Given the description of an element on the screen output the (x, y) to click on. 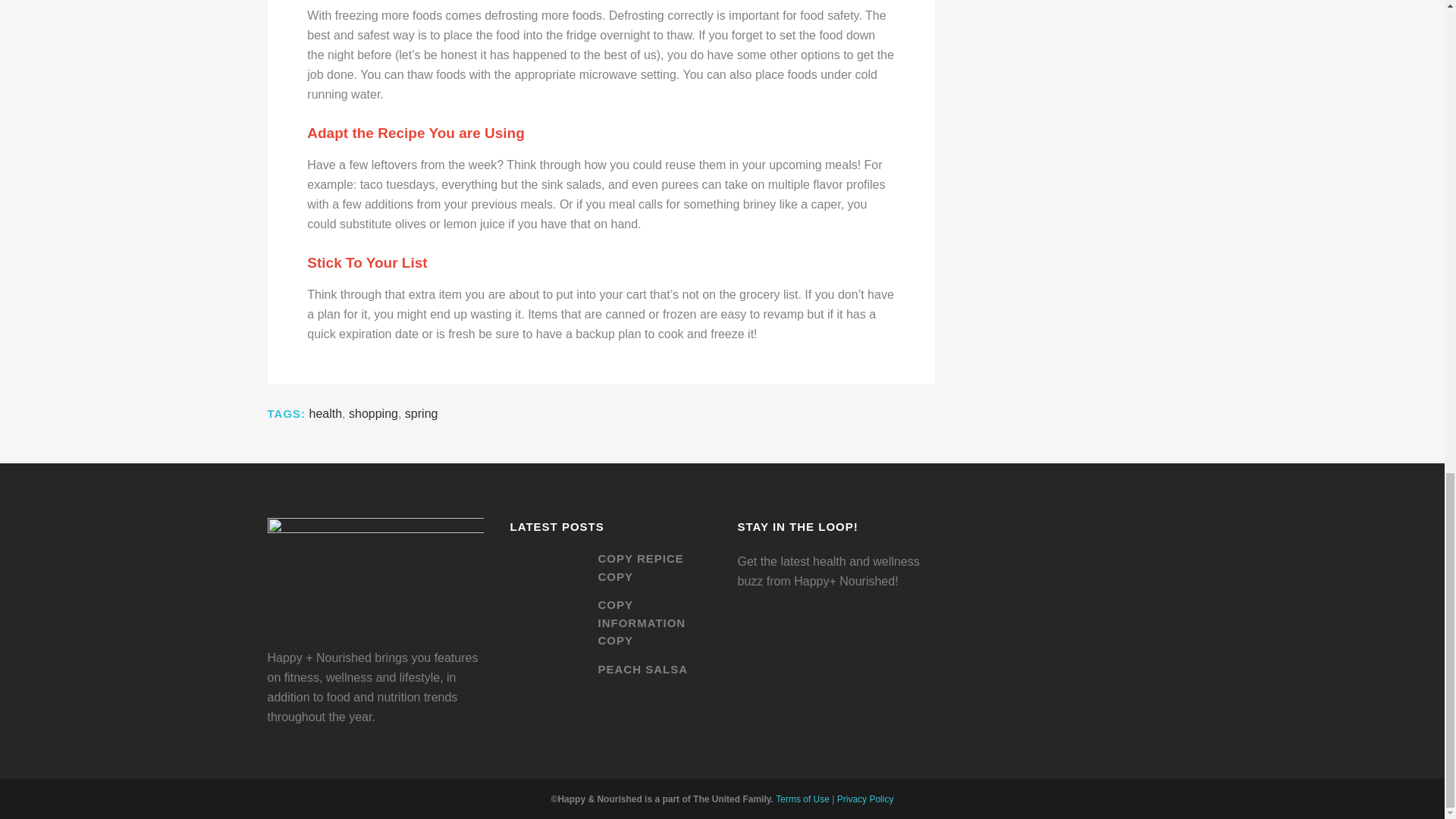
shopping (373, 413)
spring (421, 413)
health (325, 413)
